Given the description of an element on the screen output the (x, y) to click on. 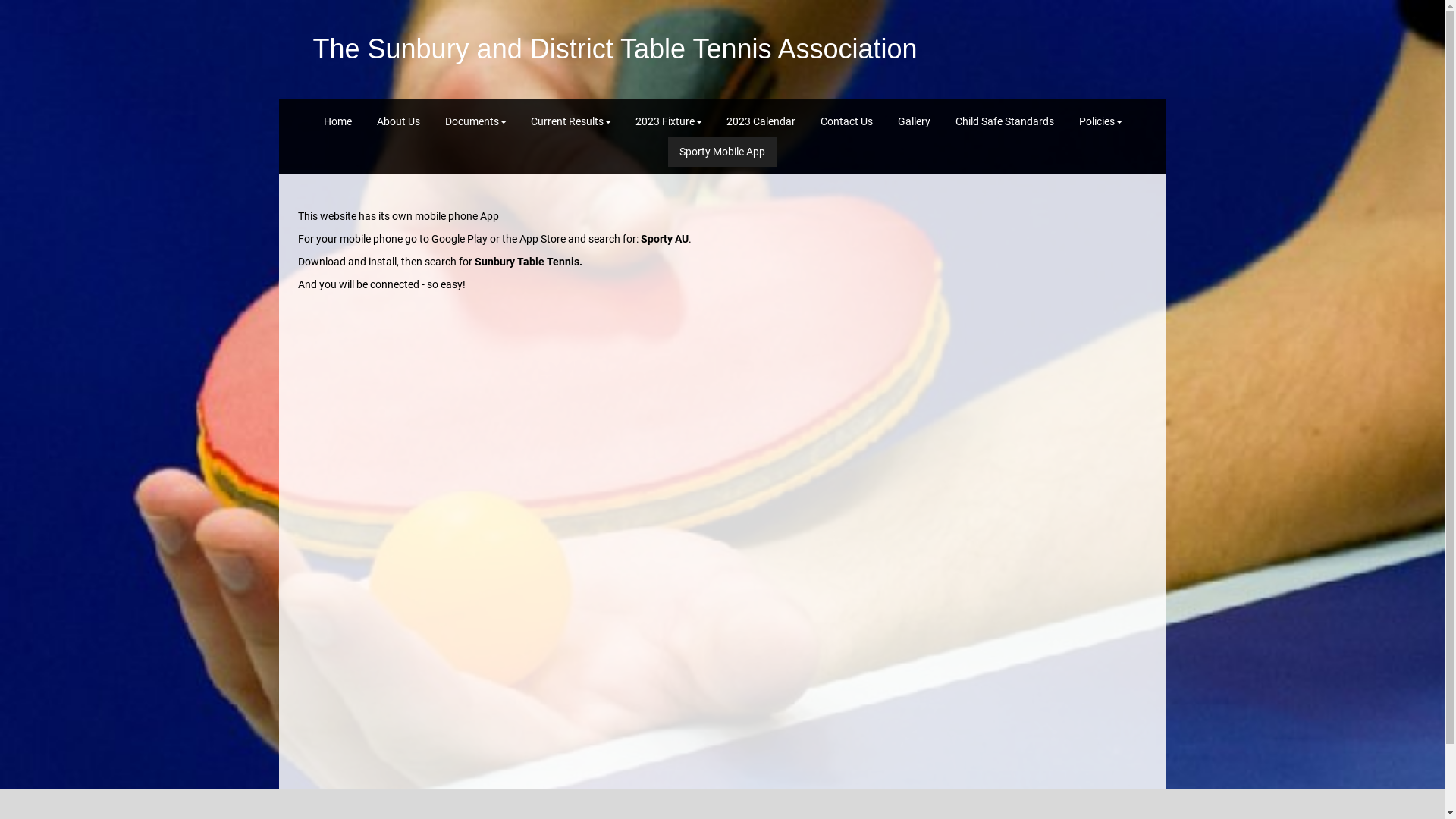
About Us Element type: text (398, 121)
Current Results Element type: text (569, 121)
Policies Element type: text (1099, 121)
Sporty Mobile App Element type: text (722, 151)
Gallery Element type: text (913, 121)
Contact Us Element type: text (845, 121)
2023 Calendar Element type: text (760, 121)
2023 Fixture Element type: text (667, 121)
Child Safe Standards Element type: text (1003, 121)
Documents Element type: text (475, 121)
Home Element type: text (337, 121)
